Given the description of an element on the screen output the (x, y) to click on. 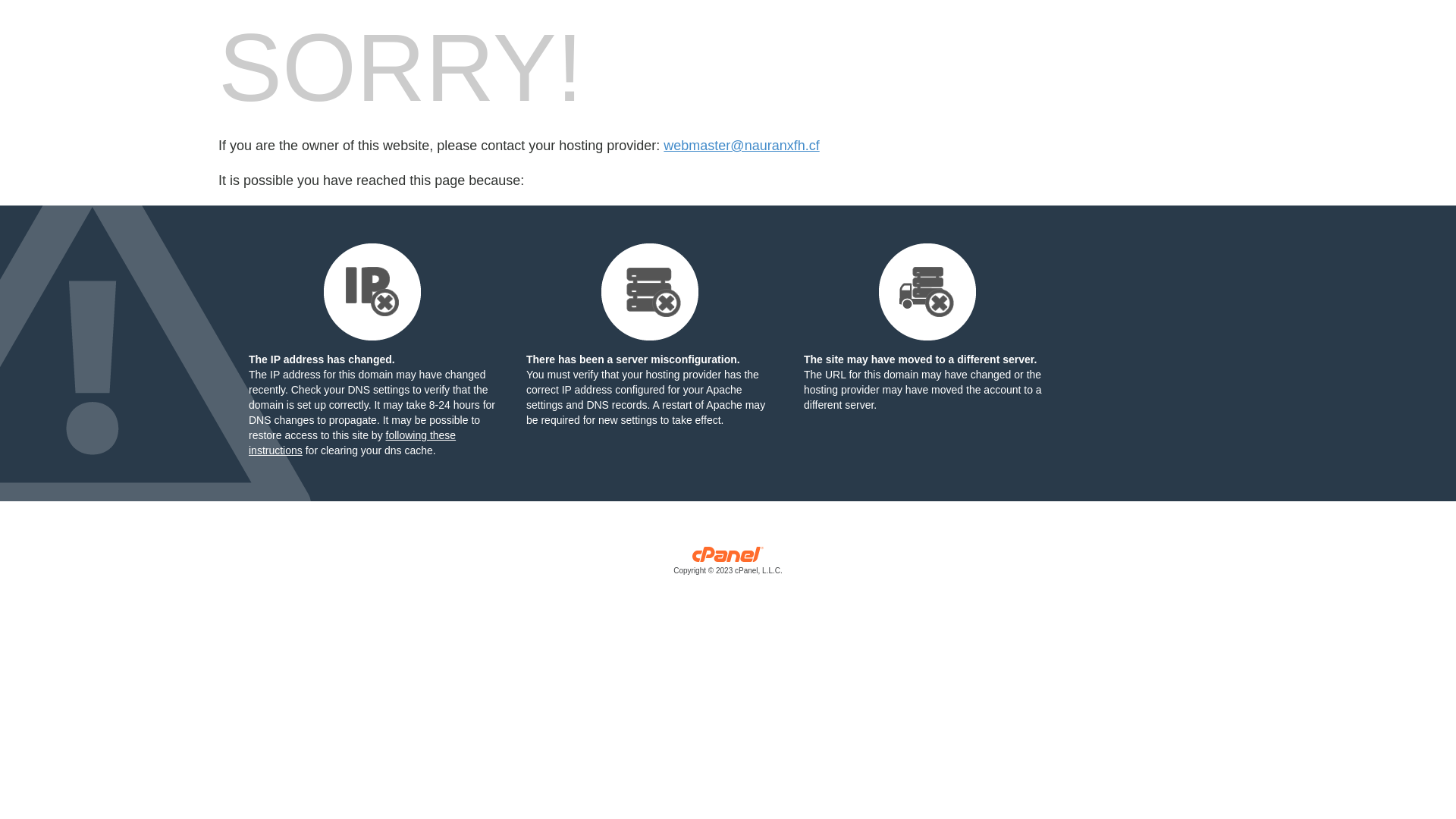
webmaster@nauranxfh.cf Element type: text (741, 145)
following these instructions Element type: text (351, 442)
